Given the description of an element on the screen output the (x, y) to click on. 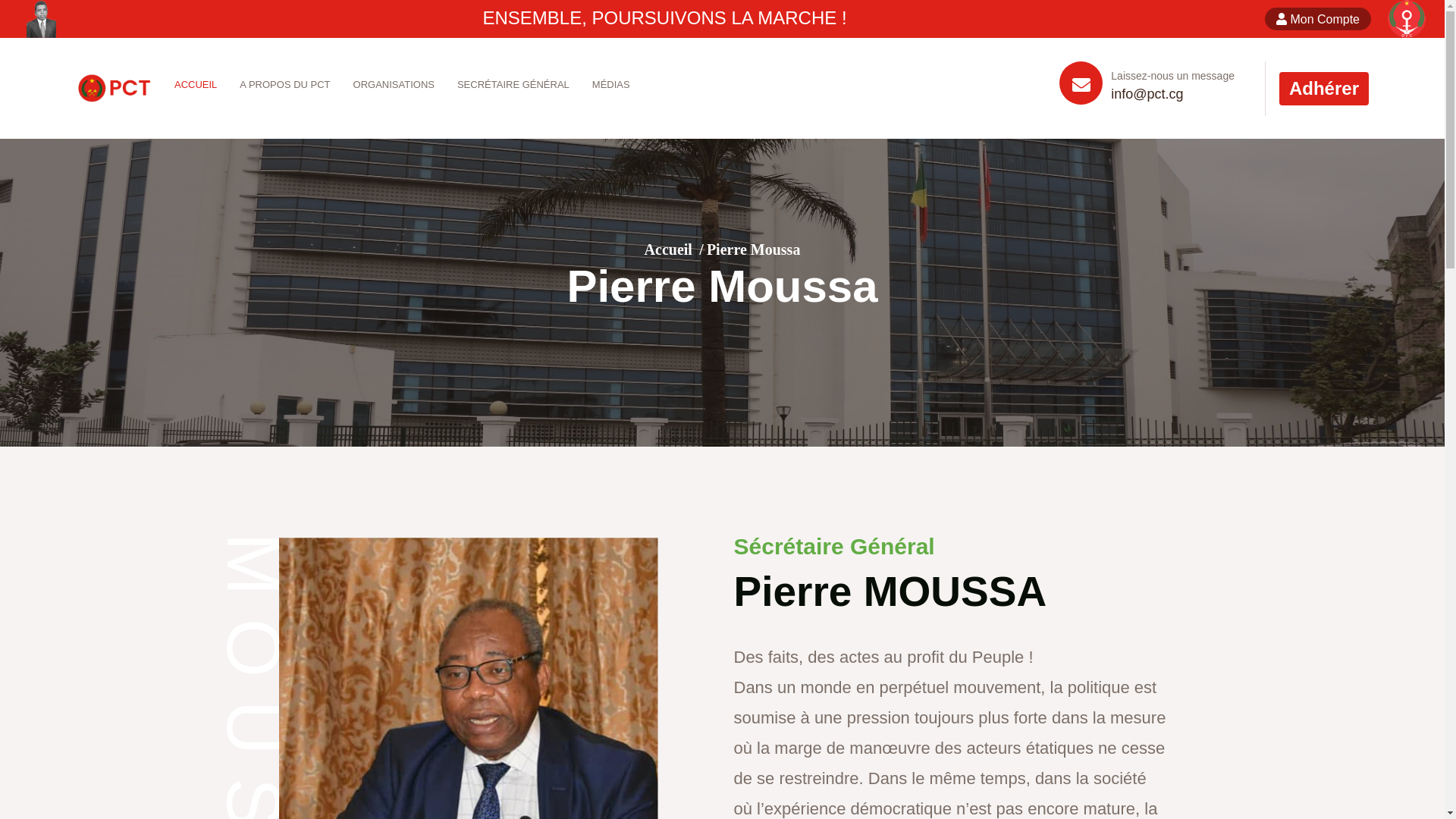
ACCUEIL Element type: text (195, 84)
info@pct.cg Element type: text (1146, 93)
Mon Compte Element type: text (1317, 18)
Accueil Element type: text (668, 249)
ORGANISATIONS Element type: text (393, 84)
A PROPOS DU PCT Element type: text (284, 84)
